Given the description of an element on the screen output the (x, y) to click on. 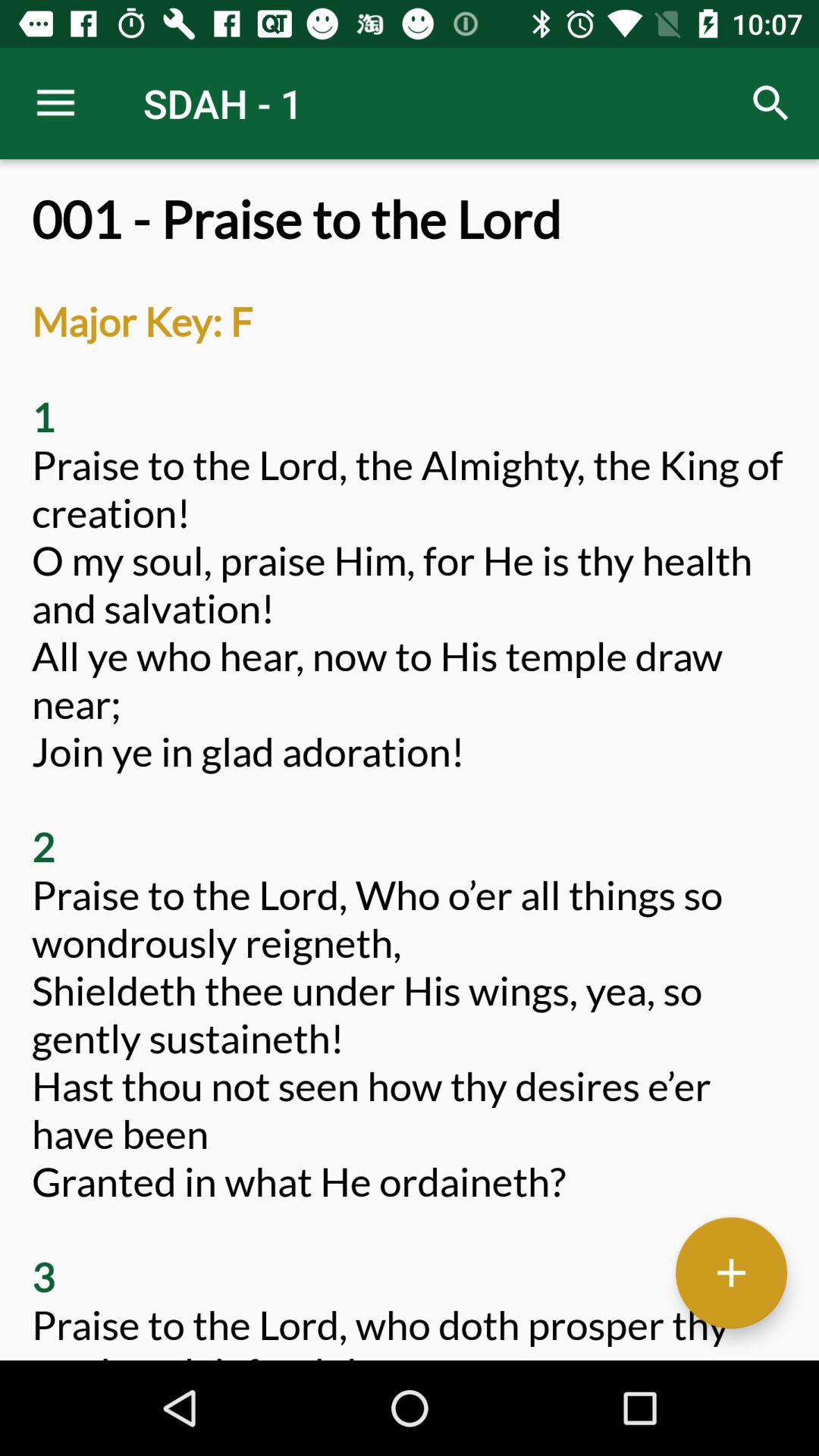
turn on the item next to the sdah - 1 icon (771, 103)
